Given the description of an element on the screen output the (x, y) to click on. 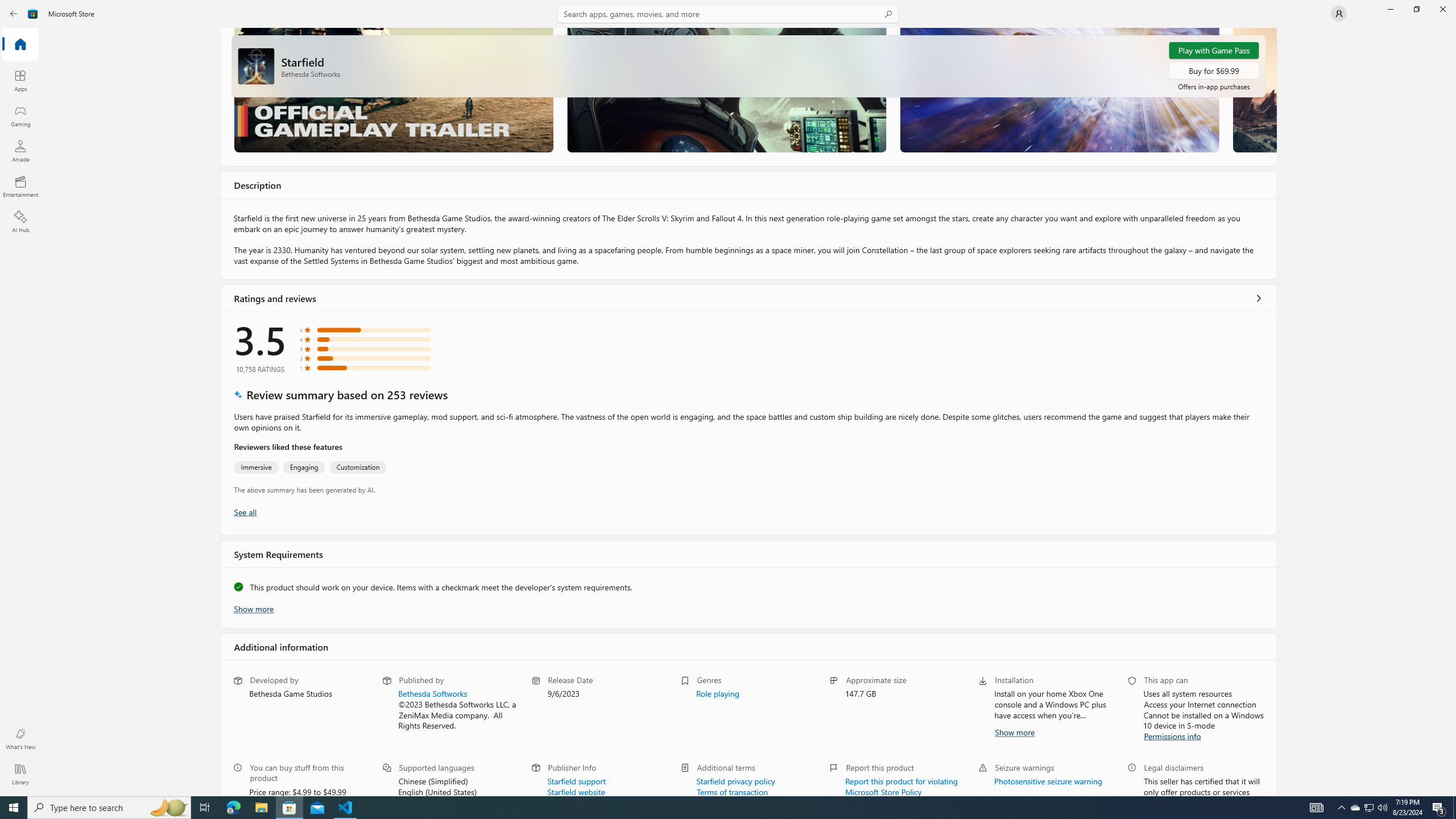
Play with Game Pass (1213, 49)
Back (13, 13)
Buy (1213, 70)
Show all ratings and reviews (244, 511)
Starfield website (575, 791)
Search (727, 13)
Screenshot 3 (1058, 89)
Starfield support (576, 780)
